Given the description of an element on the screen output the (x, y) to click on. 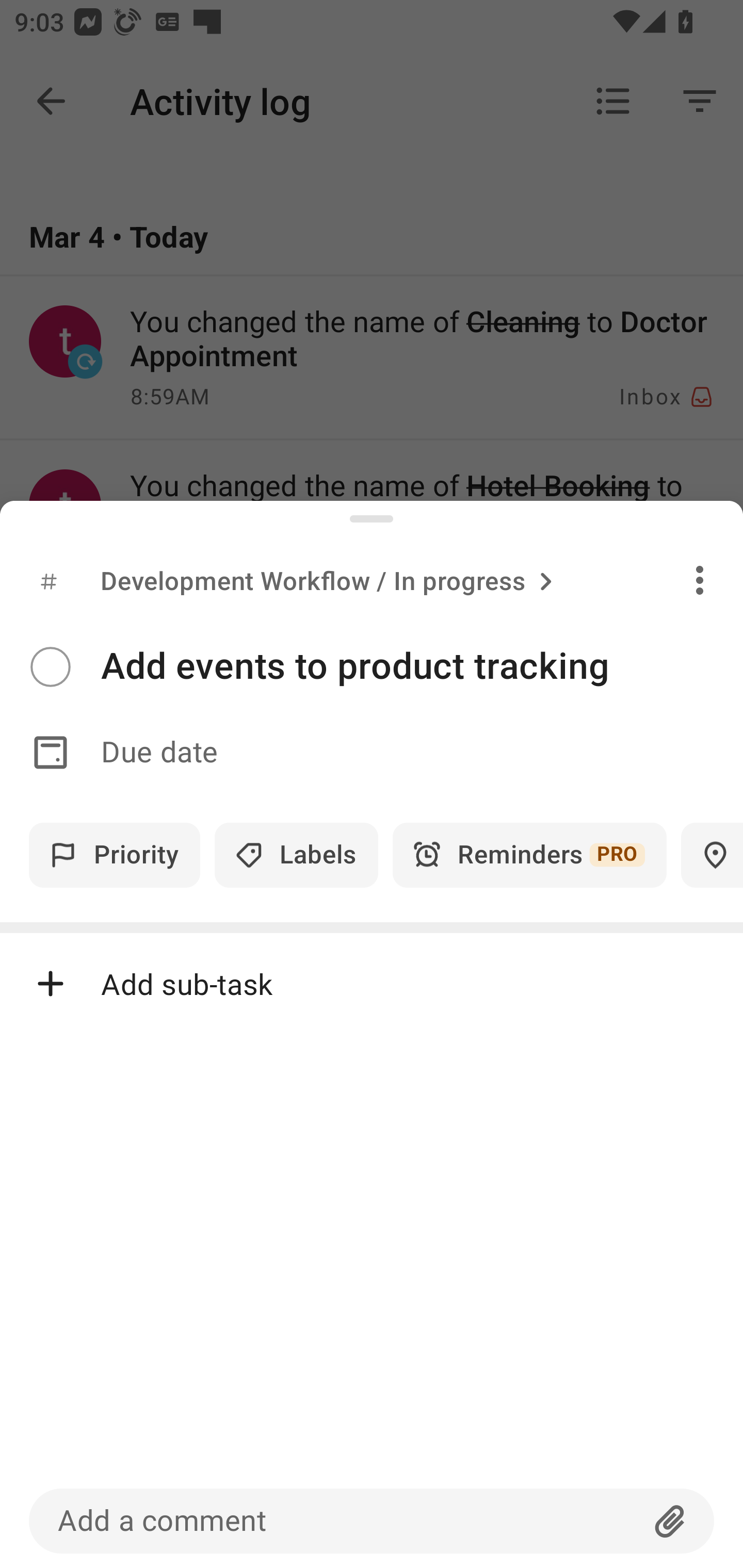
Overflow menu (699, 580)
Complete (50, 667)
Add events to product tracking​ (422, 666)
Date Due date (371, 752)
Priority (113, 855)
Labels (296, 855)
Reminders PRO (529, 855)
Locations PRO (712, 855)
Add sub-task (371, 983)
Add a comment Attachment (371, 1520)
Attachment (670, 1520)
